Given the description of an element on the screen output the (x, y) to click on. 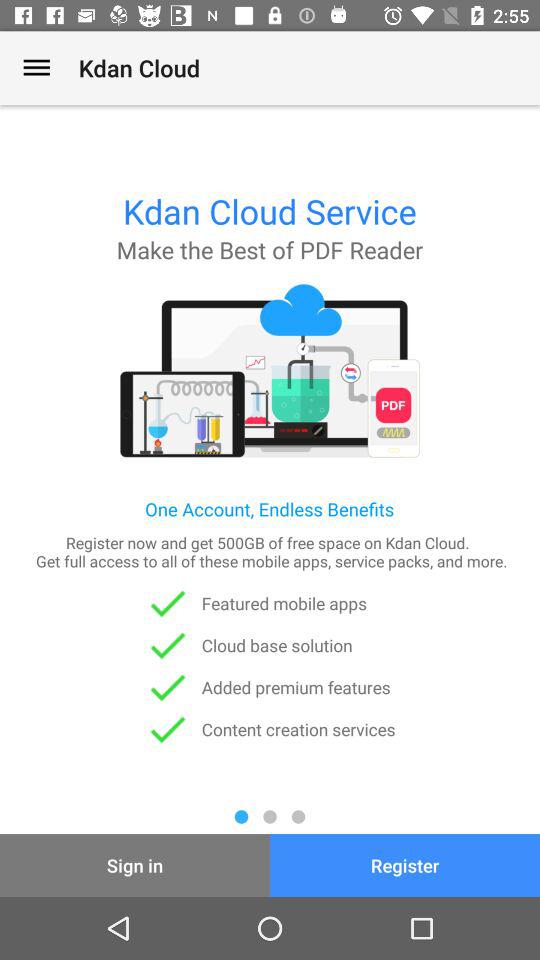
launch item to the left of the register item (135, 864)
